Given the description of an element on the screen output the (x, y) to click on. 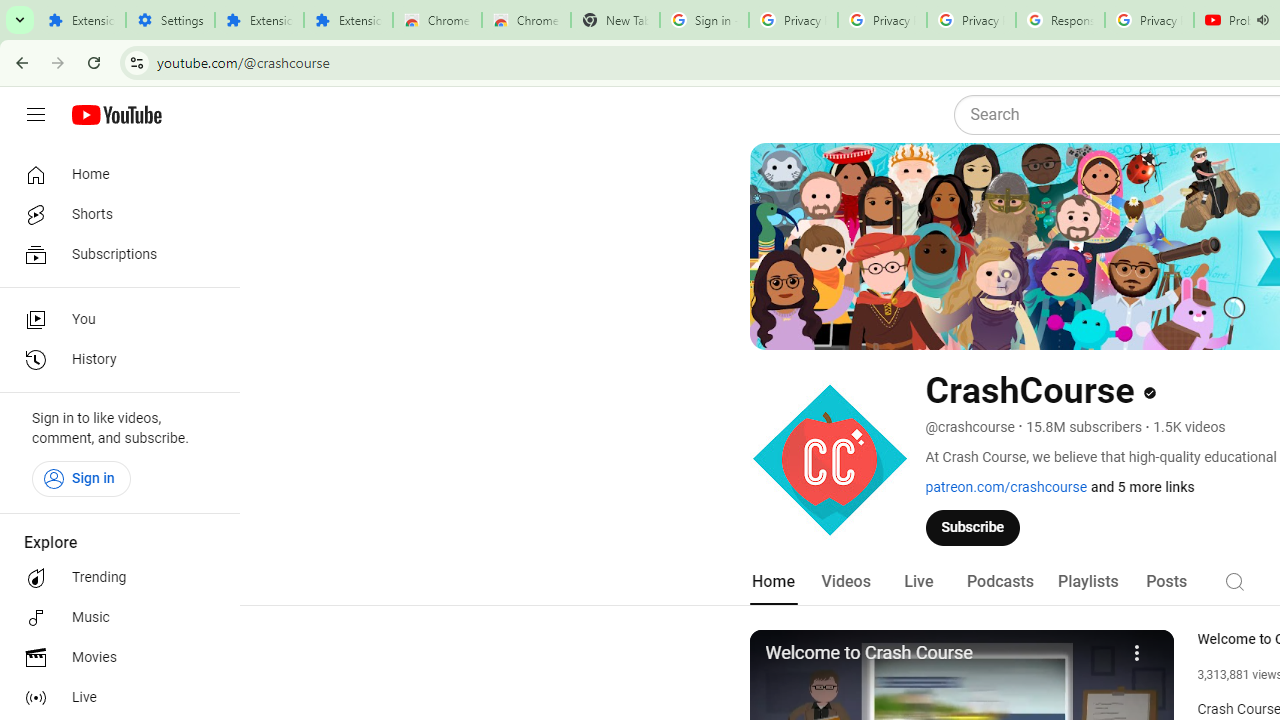
More (1137, 650)
Welcome to Crash Course (939, 654)
Music (113, 617)
Videos (845, 581)
Shorts (113, 214)
Extensions (347, 20)
Posts (1165, 581)
Chrome Web Store - Themes (526, 20)
Live (918, 581)
